Given the description of an element on the screen output the (x, y) to click on. 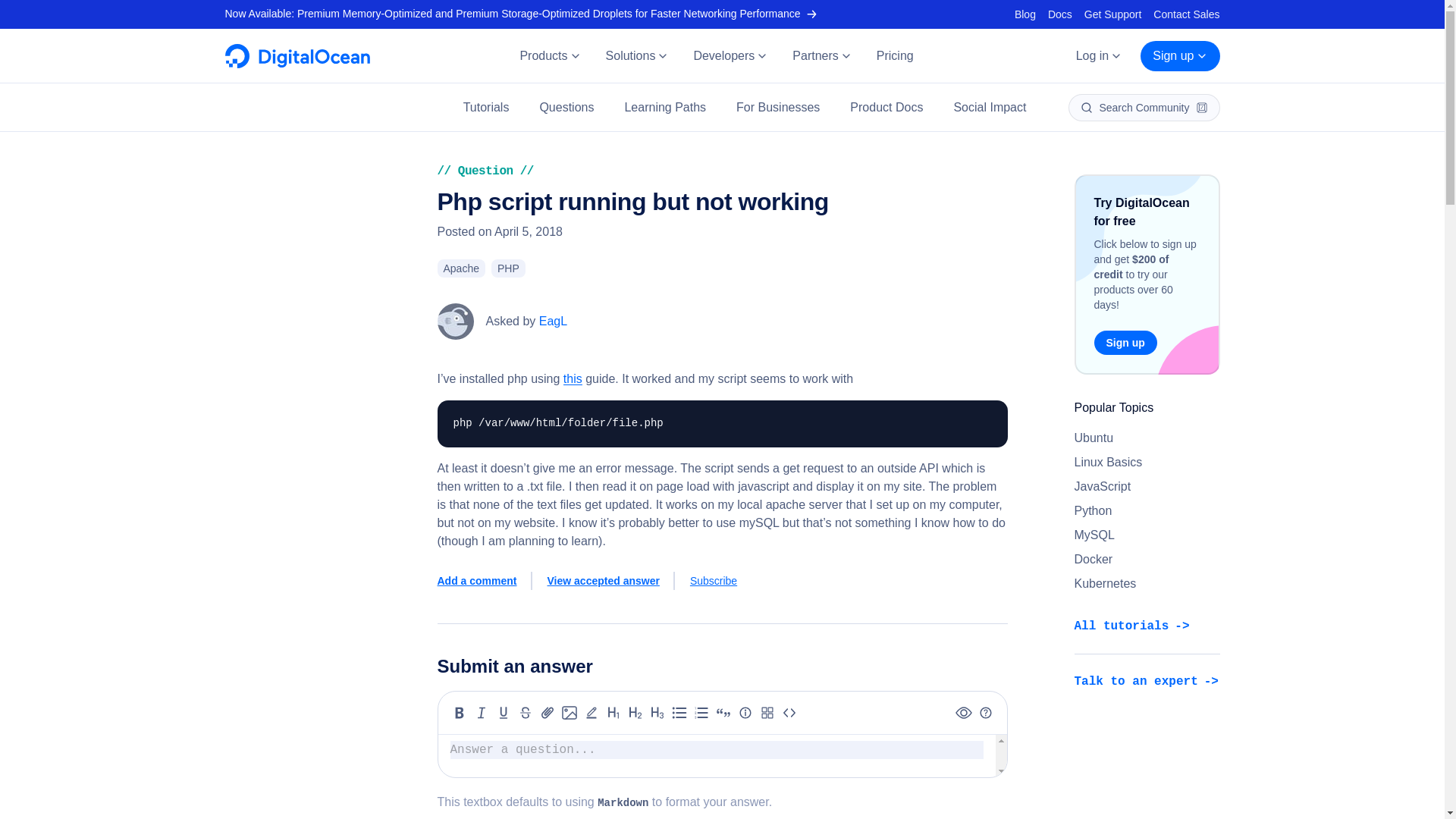
Heading 1 (612, 712)
Quote (723, 712)
Heading 2 (635, 712)
Unordered list (678, 712)
Bold (458, 712)
DigitalOcean (296, 63)
Table (767, 712)
Strikethrough (524, 712)
Ordered list (700, 712)
Underline (503, 712)
